Given the description of an element on the screen output the (x, y) to click on. 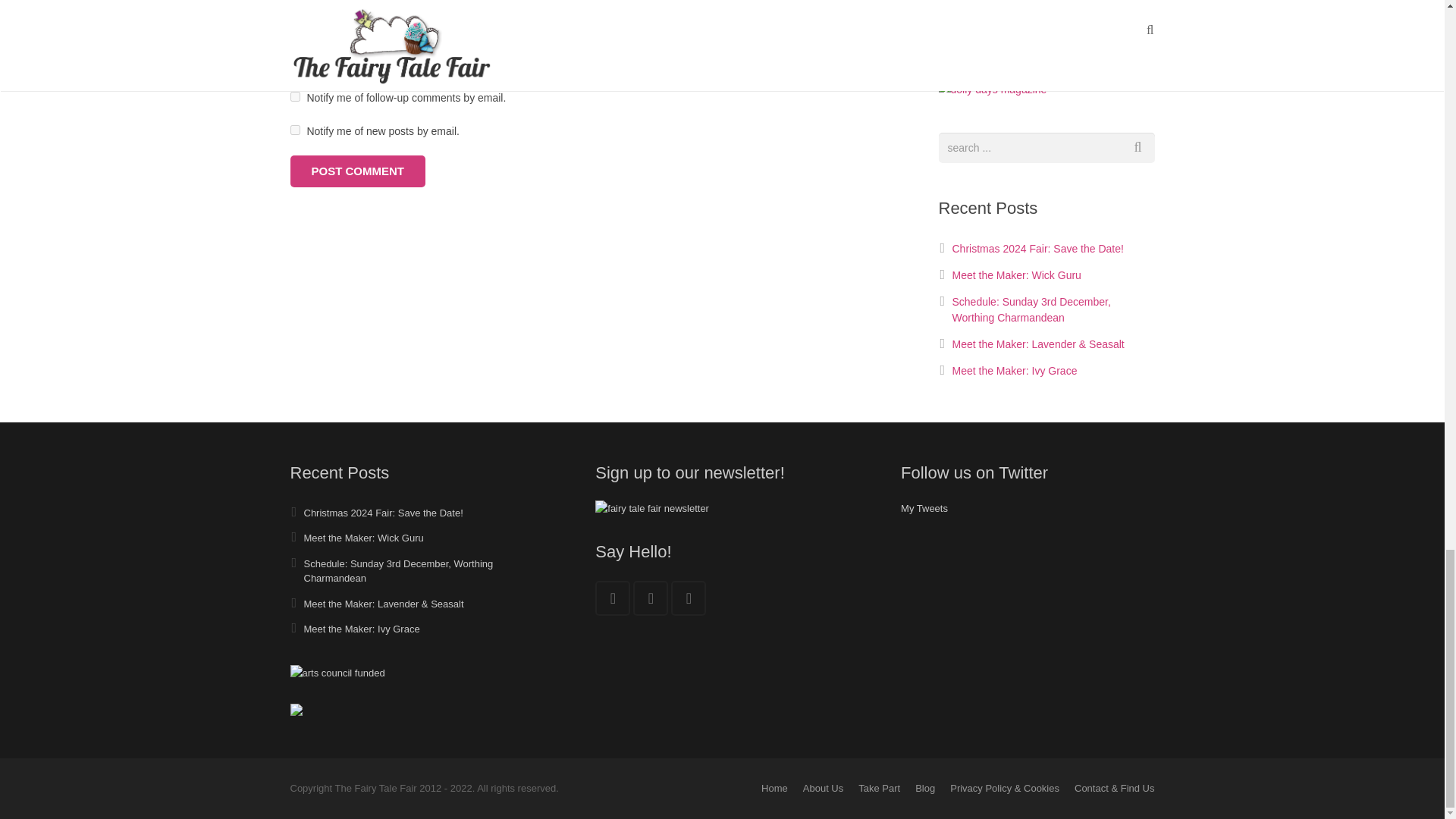
Post Comment (357, 171)
yes (294, 62)
subscribe (294, 96)
subscribe (294, 130)
Post Comment (357, 171)
